Given the description of an element on the screen output the (x, y) to click on. 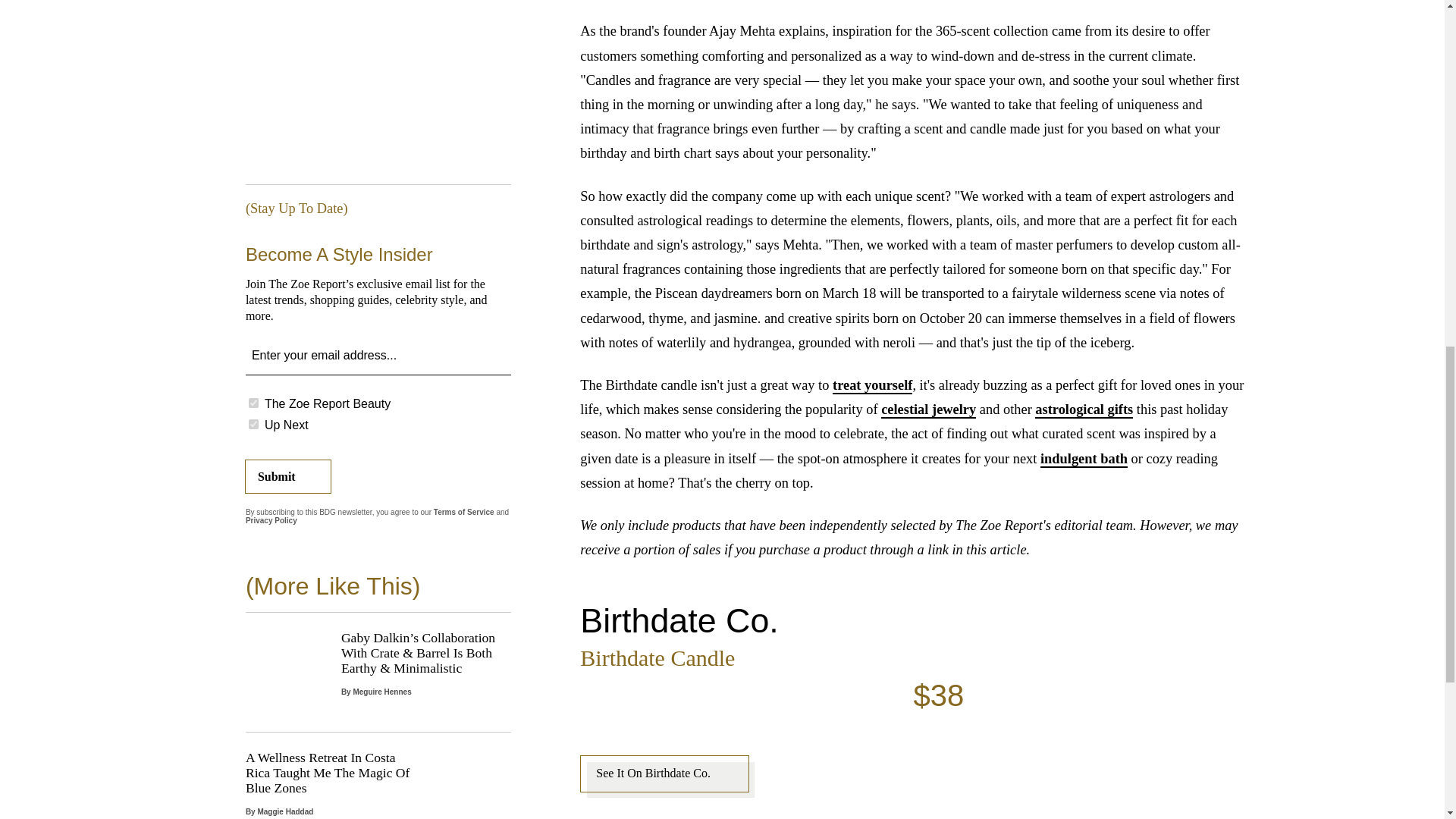
See It On Birthdate Co. (664, 773)
Submit (288, 476)
indulgent bath (1083, 459)
celestial jewelry (927, 410)
treat yourself (872, 385)
Terms of Service (464, 511)
Privacy Policy (271, 520)
astrological gifts (1083, 410)
